Given the description of an element on the screen output the (x, y) to click on. 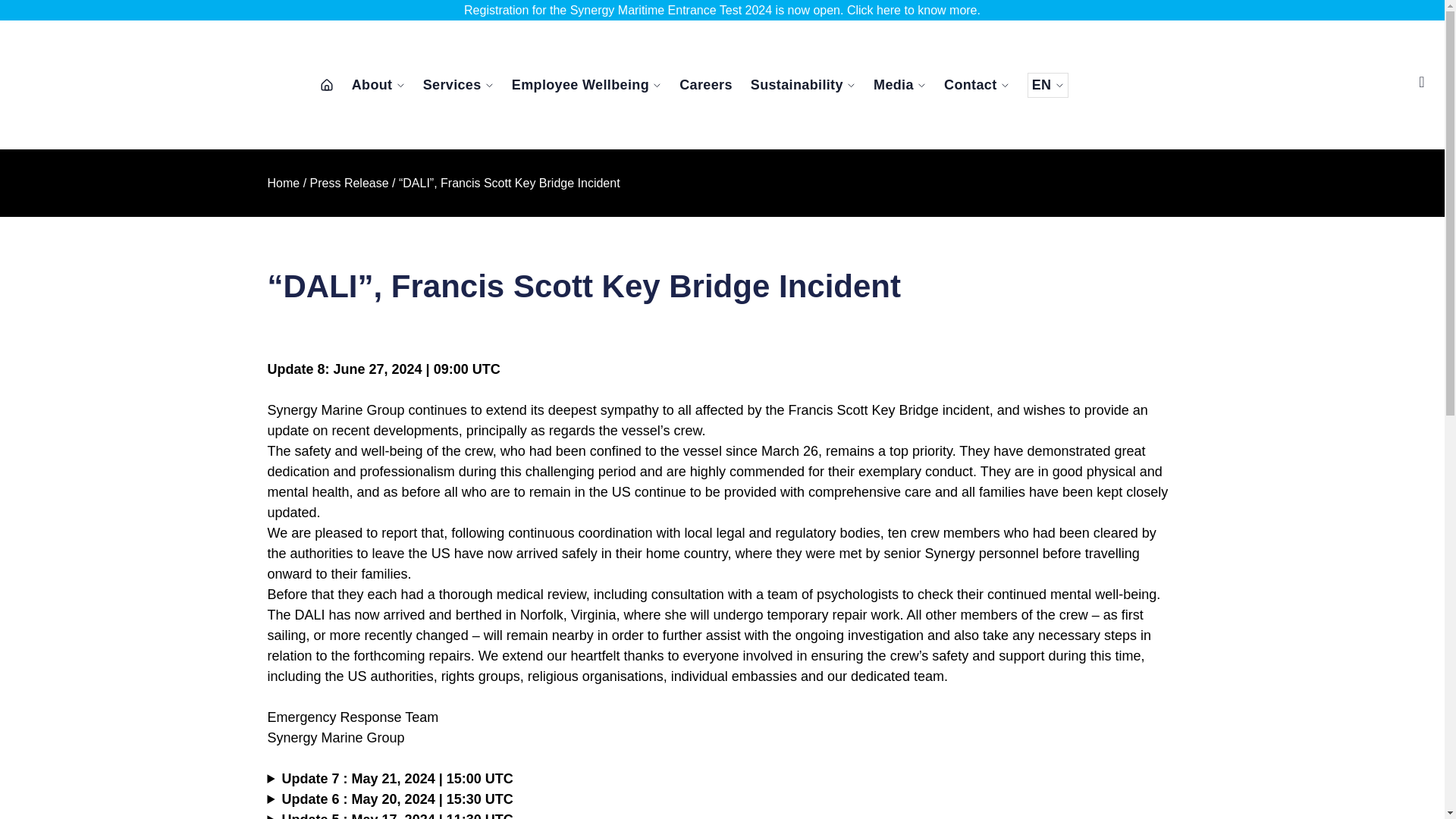
About (378, 84)
EN (1048, 84)
Services (458, 84)
